Given the description of an element on the screen output the (x, y) to click on. 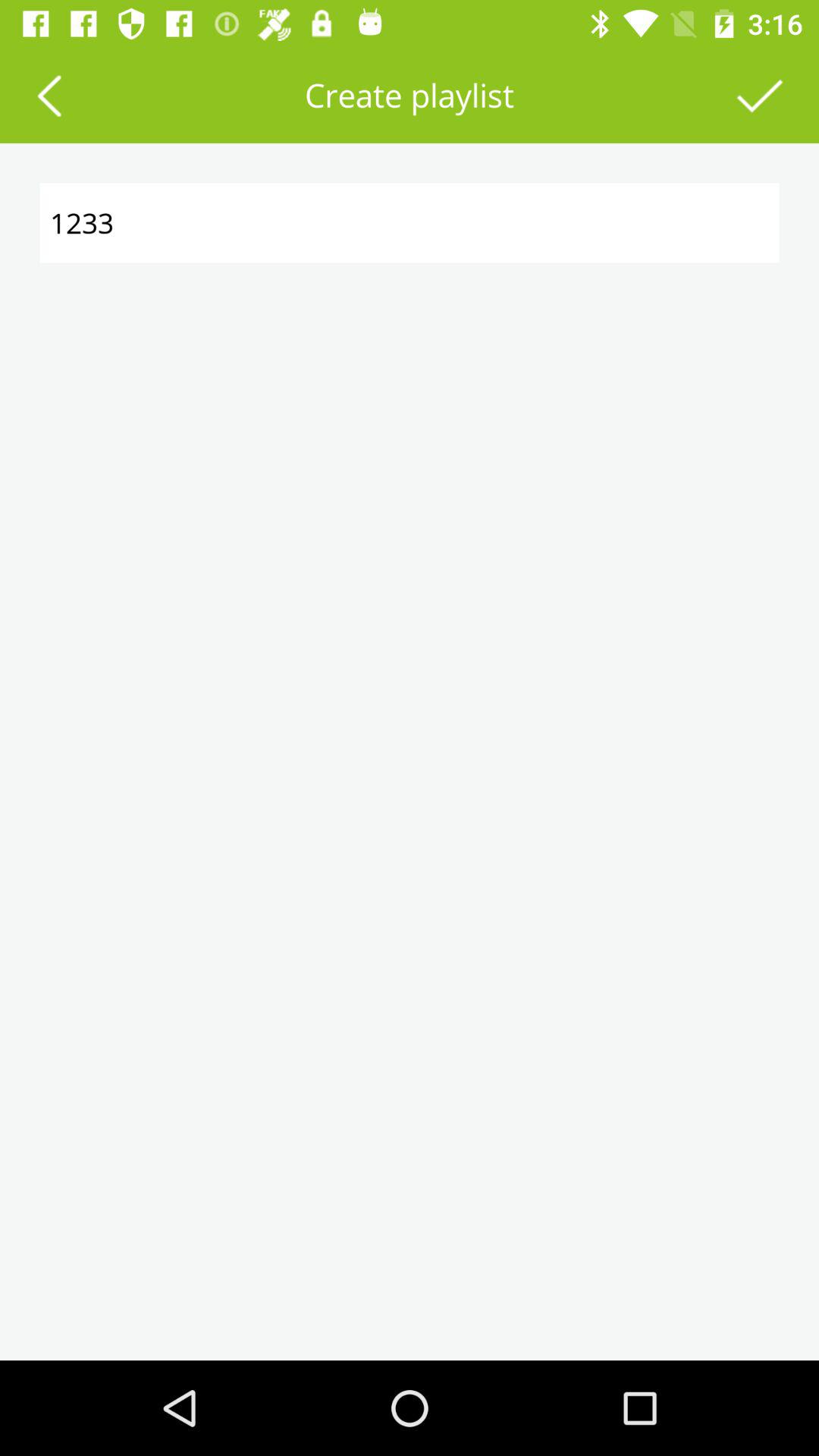
save (759, 95)
